Given the description of an element on the screen output the (x, y) to click on. 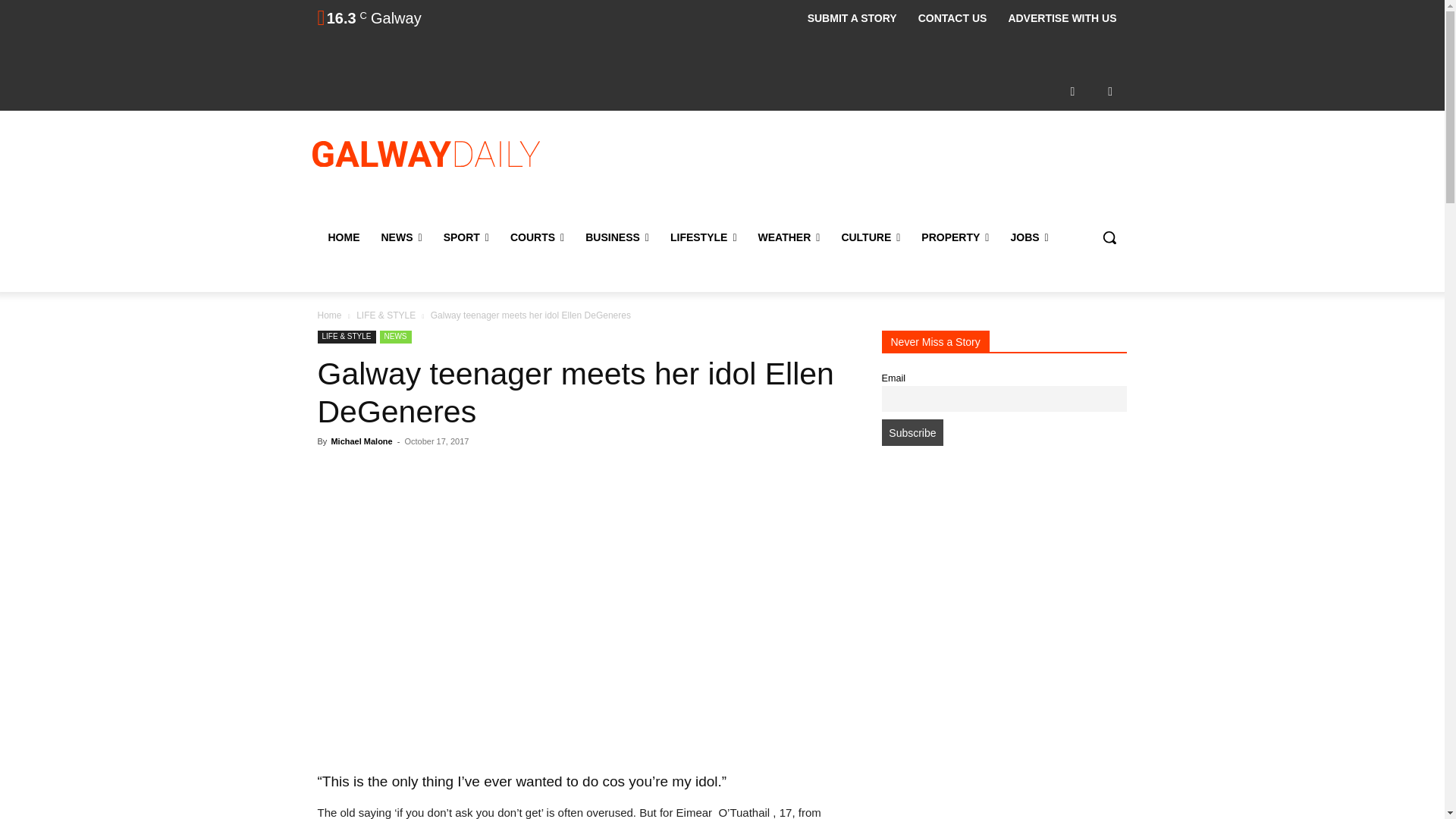
Advertisement (846, 172)
Facebook (1072, 91)
Twitter (1109, 91)
Subscribe (911, 432)
